Given the description of an element on the screen output the (x, y) to click on. 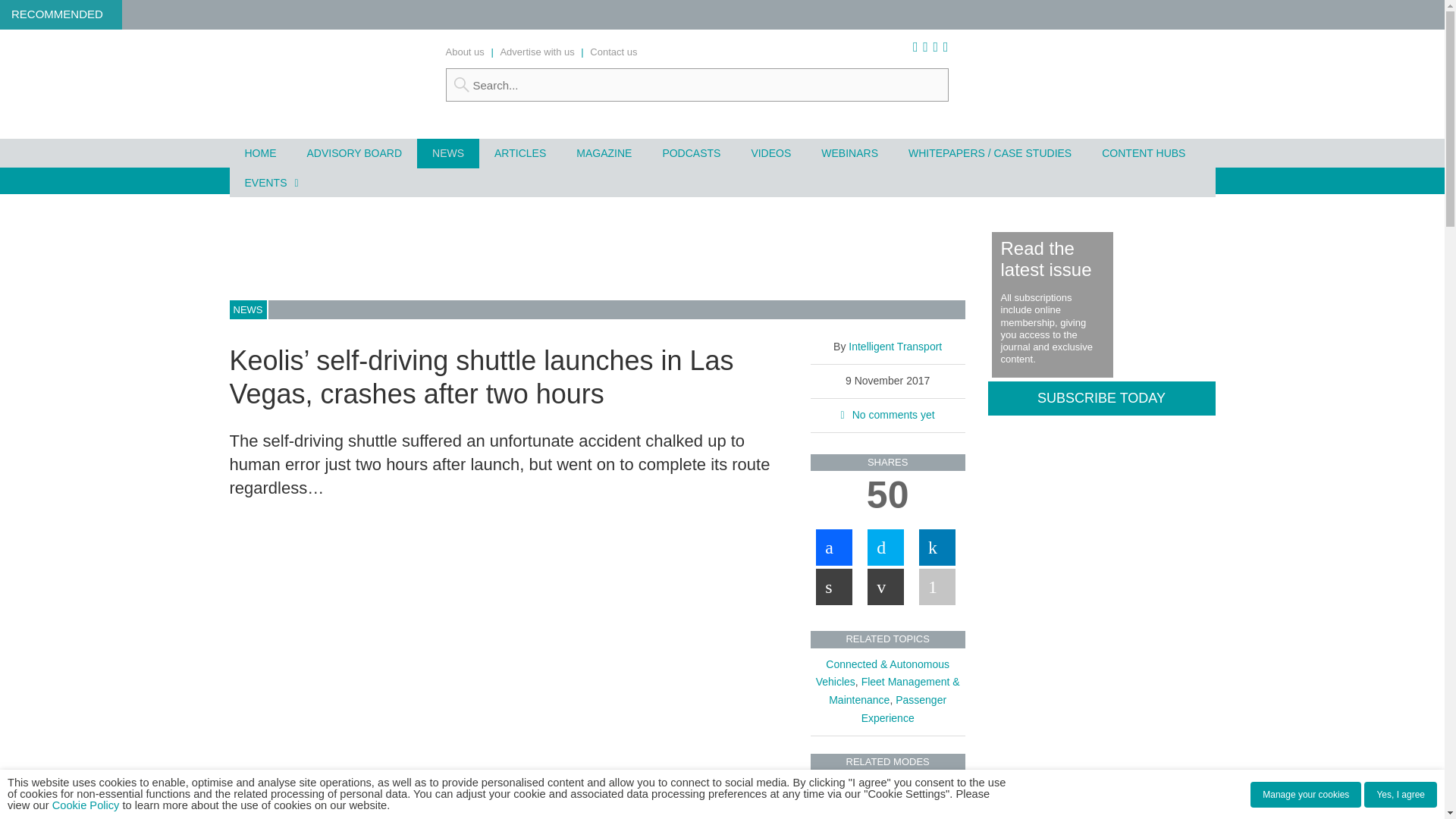
WEBINARS (849, 152)
ARTICLES (519, 152)
NEWS (447, 152)
close (440, 813)
ADVISORY BOARD (353, 152)
Contact us (613, 51)
CONTENT HUBS (1142, 152)
HOME (259, 152)
Advertise with us (536, 51)
PODCASTS (690, 152)
